Given the description of an element on the screen output the (x, y) to click on. 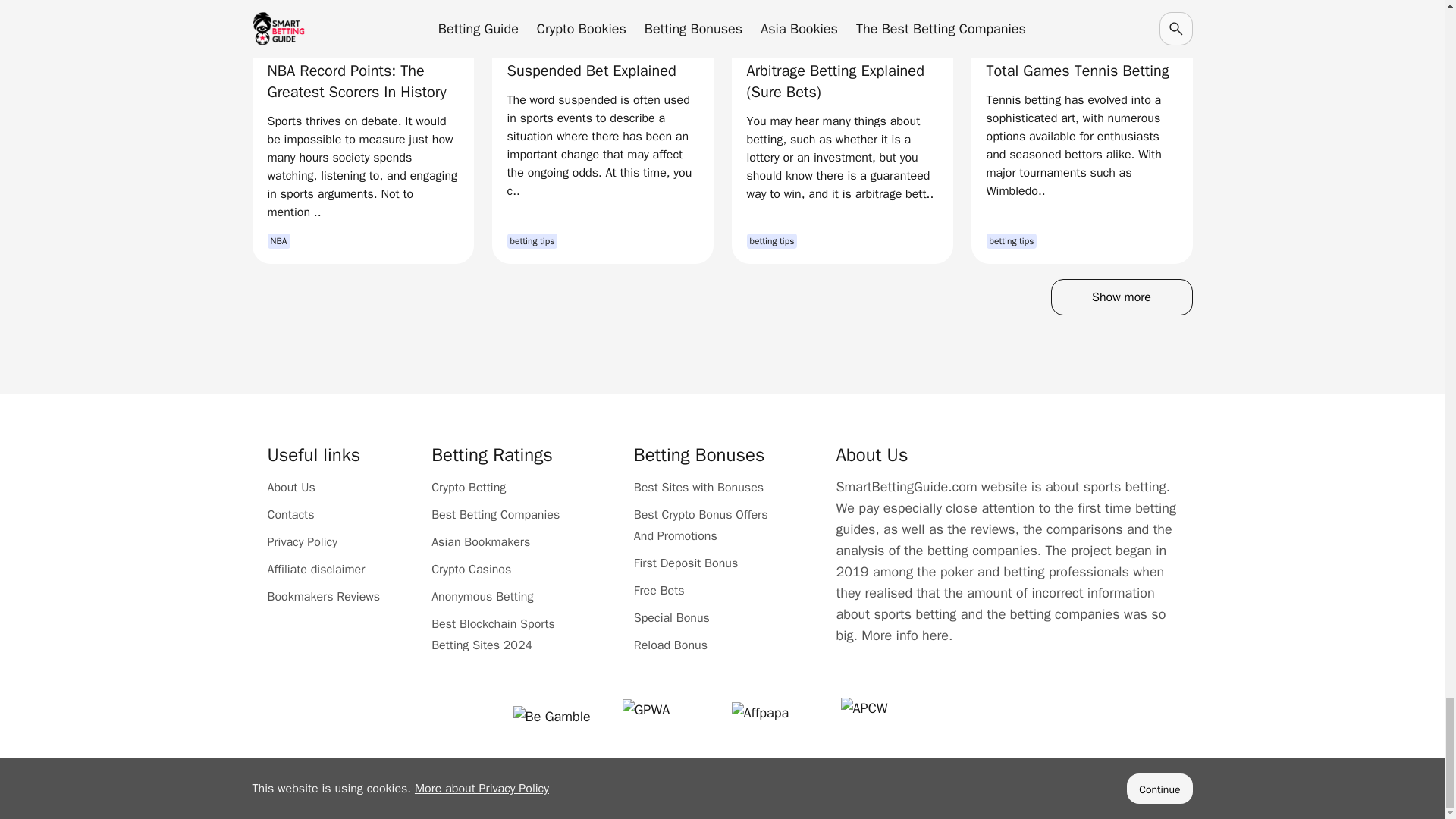
APCW (885, 715)
GPWA (667, 715)
Affpapa (776, 715)
